Given the description of an element on the screen output the (x, y) to click on. 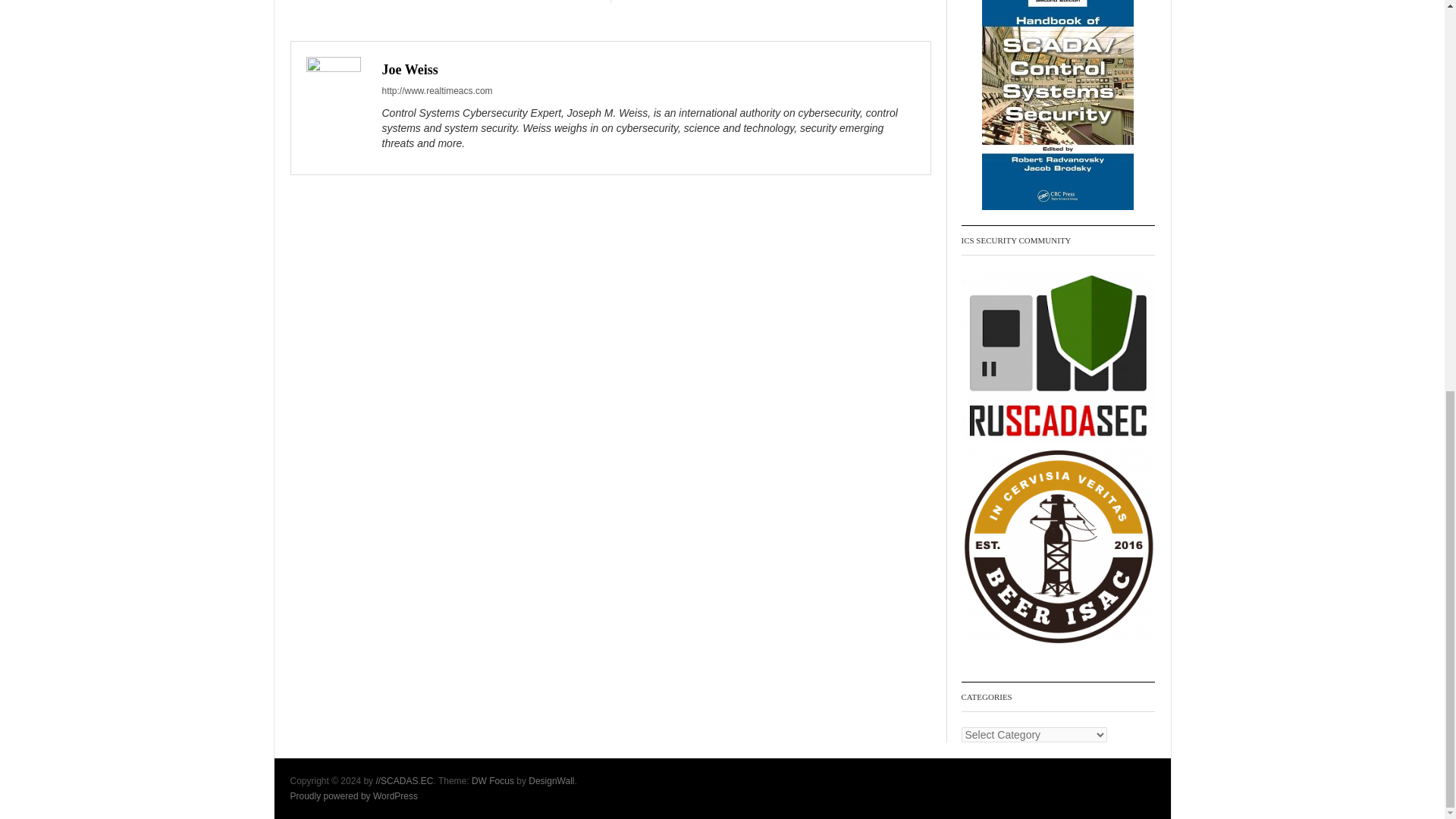
WordPress News Theme (492, 780)
DW Focus (492, 780)
Joe Weiss (409, 69)
Proudly powered by WordPress (353, 796)
Posts by Joe Weiss (409, 69)
DesignWall (550, 780)
